Given the description of an element on the screen output the (x, y) to click on. 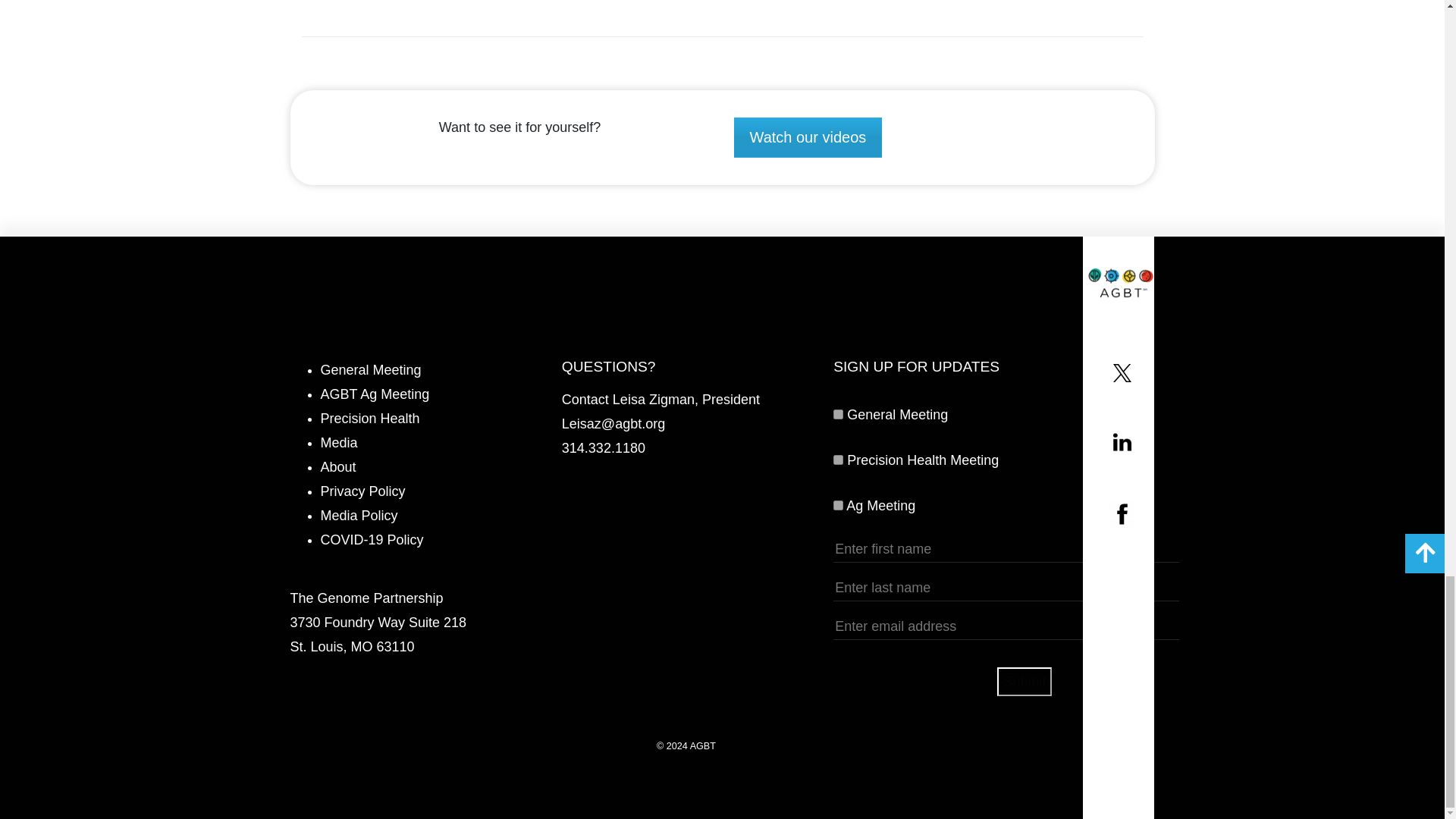
2070787819 (837, 460)
1304835228 (837, 414)
Watch our videos (807, 137)
1564548015 (837, 505)
Submit (1024, 681)
